Given the description of an element on the screen output the (x, y) to click on. 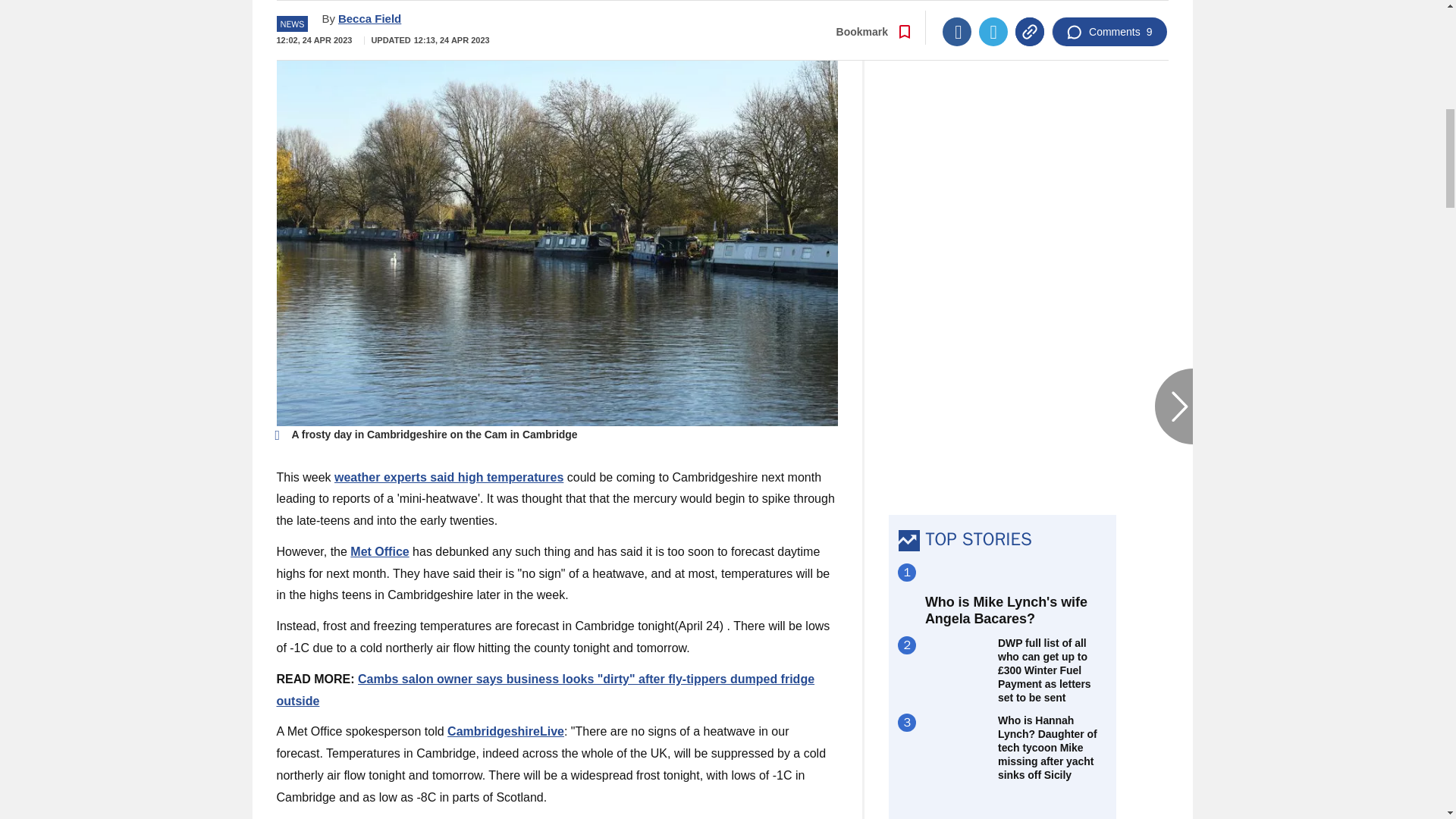
Facebook (956, 10)
Comments (1108, 10)
Twitter (992, 10)
